Given the description of an element on the screen output the (x, y) to click on. 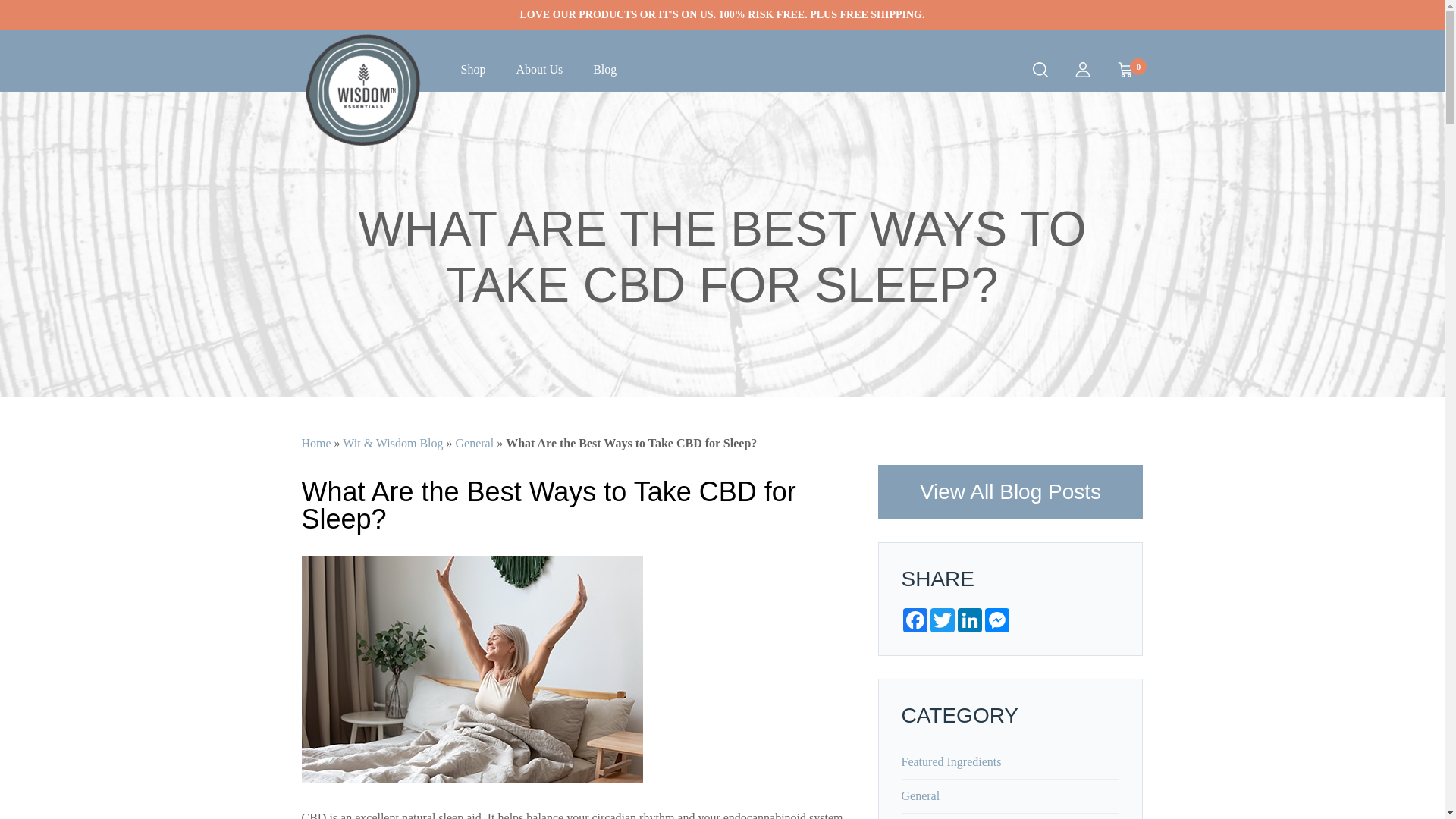
My Account (1082, 69)
Twitter (941, 620)
Messenger (996, 620)
Blog (604, 71)
General (475, 442)
Shop (472, 71)
View All Blog Posts (1009, 492)
LinkedIn (968, 620)
Search (1040, 69)
Home (316, 442)
Facebook (914, 620)
About Us (1125, 69)
